Given the description of an element on the screen output the (x, y) to click on. 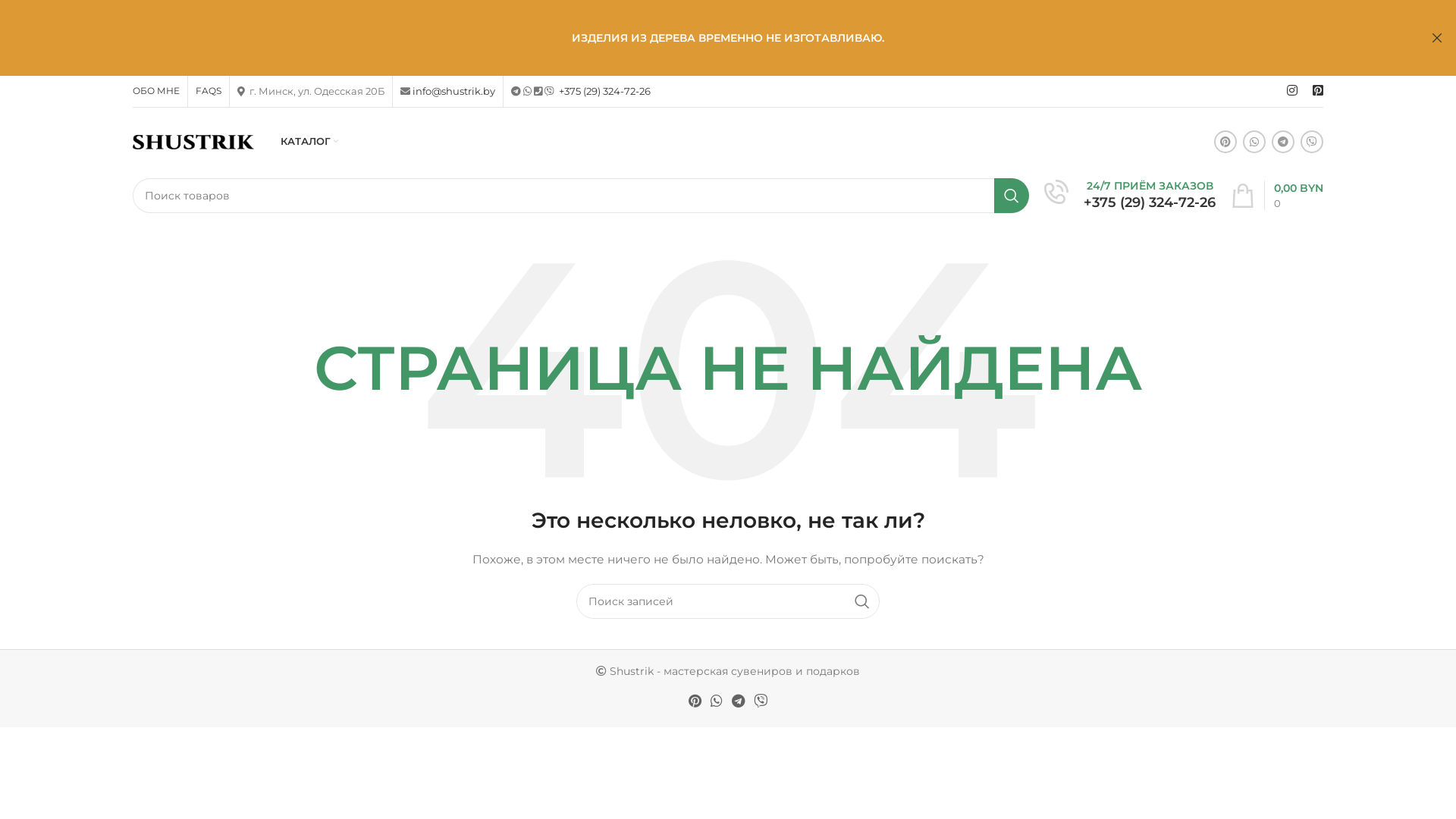
+375 (29) 324-72-26 Element type: text (1149, 202)
0
0,00 BYN Element type: text (1276, 195)
FAQS Element type: text (208, 90)
info@shustrik.by Element type: text (453, 90)
+375 (29) 324-72-26 Element type: text (604, 90)
